Given the description of an element on the screen output the (x, y) to click on. 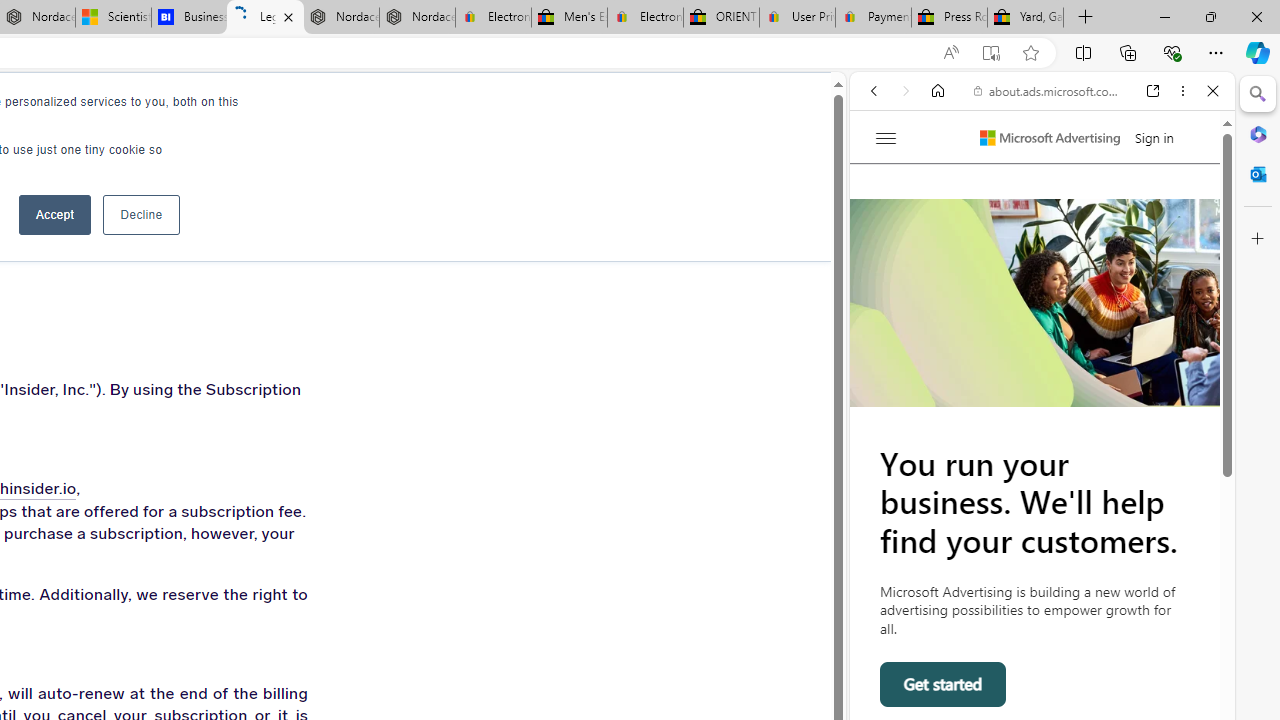
CONTACT US (377, 110)
CAREERS (178, 110)
about.ads.microsoft.com (1045, 90)
